Given the description of an element on the screen output the (x, y) to click on. 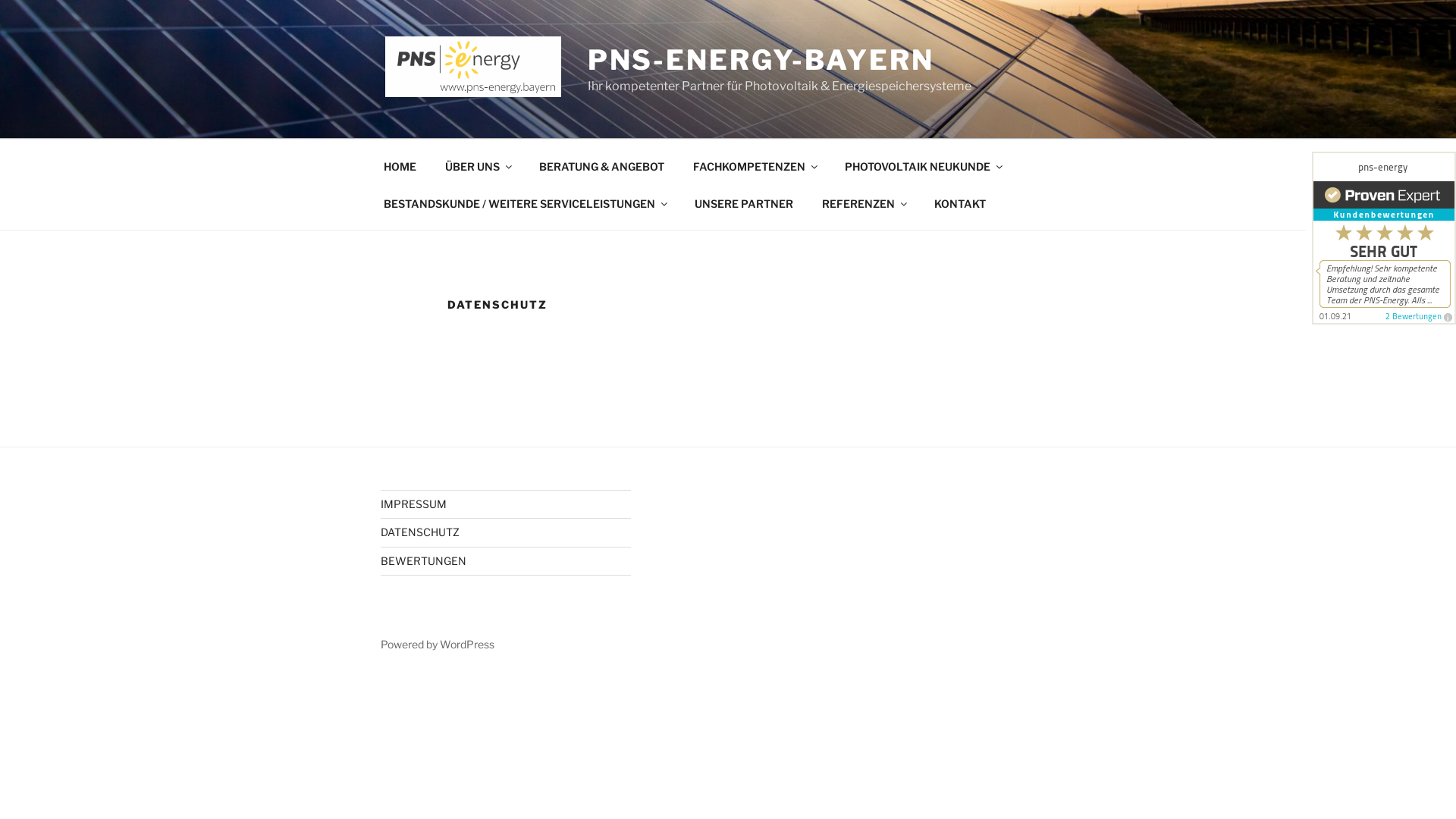
REFERENZEN Element type: text (863, 203)
PNS-ENERGY-BAYERN Element type: text (760, 59)
BEWERTUNGEN Element type: text (423, 560)
HOME Element type: text (399, 165)
IMPRESSUM Element type: text (413, 503)
FACHKOMPETENZEN Element type: text (753, 165)
Powered by WordPress Element type: text (437, 643)
BERATUNG & ANGEBOT Element type: text (601, 165)
PHOTOVOLTAIK NEUKUNDE Element type: text (922, 165)
DATENSCHUTZ Element type: text (419, 531)
KONTAKT Element type: text (959, 203)
UNSERE PARTNER Element type: text (743, 203)
BESTANDSKUNDE / WEITERE SERVICELEISTUNGEN Element type: text (524, 203)
